Given the description of an element on the screen output the (x, y) to click on. 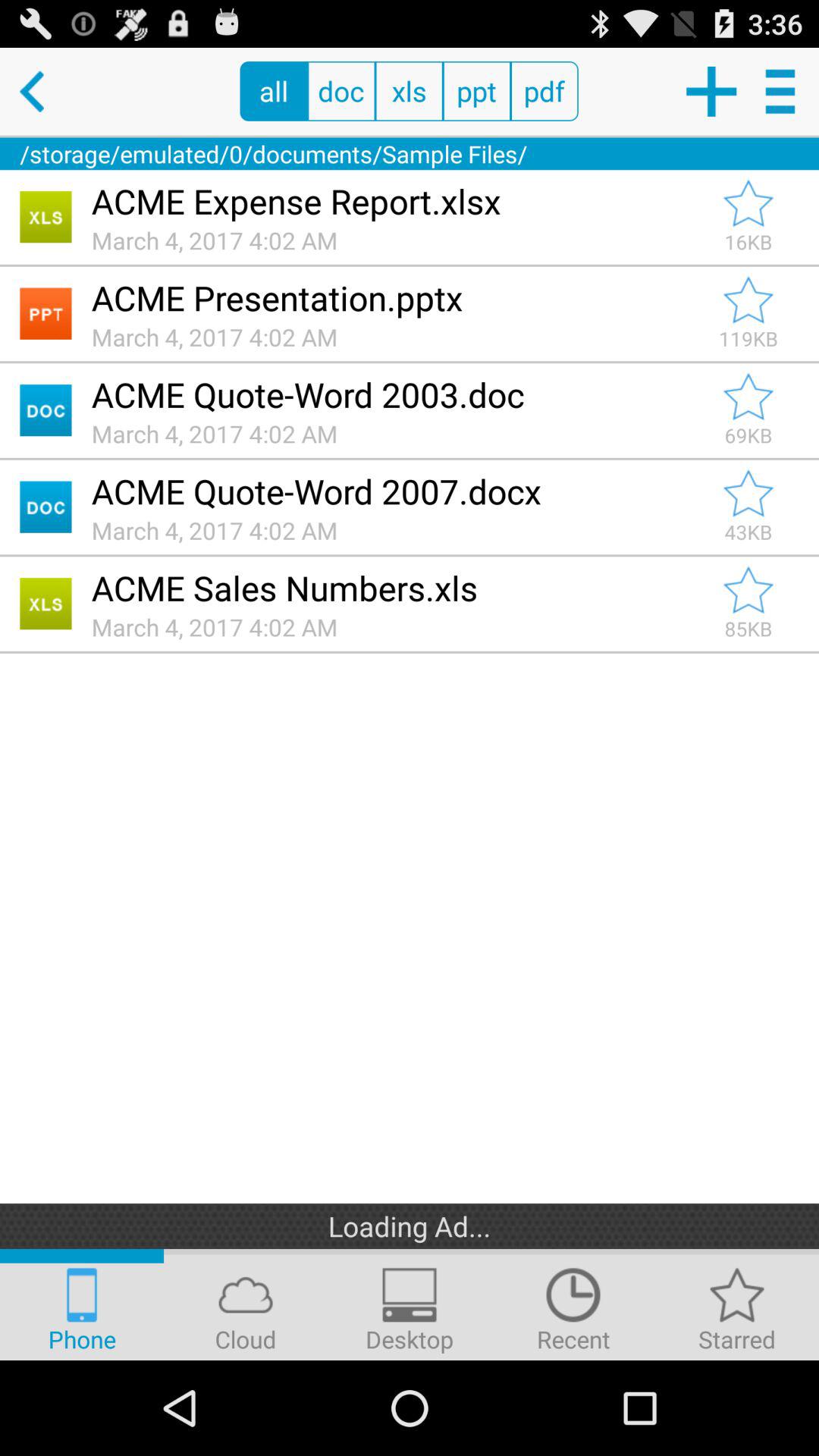
toggle to more options more options (782, 91)
